Given the description of an element on the screen output the (x, y) to click on. 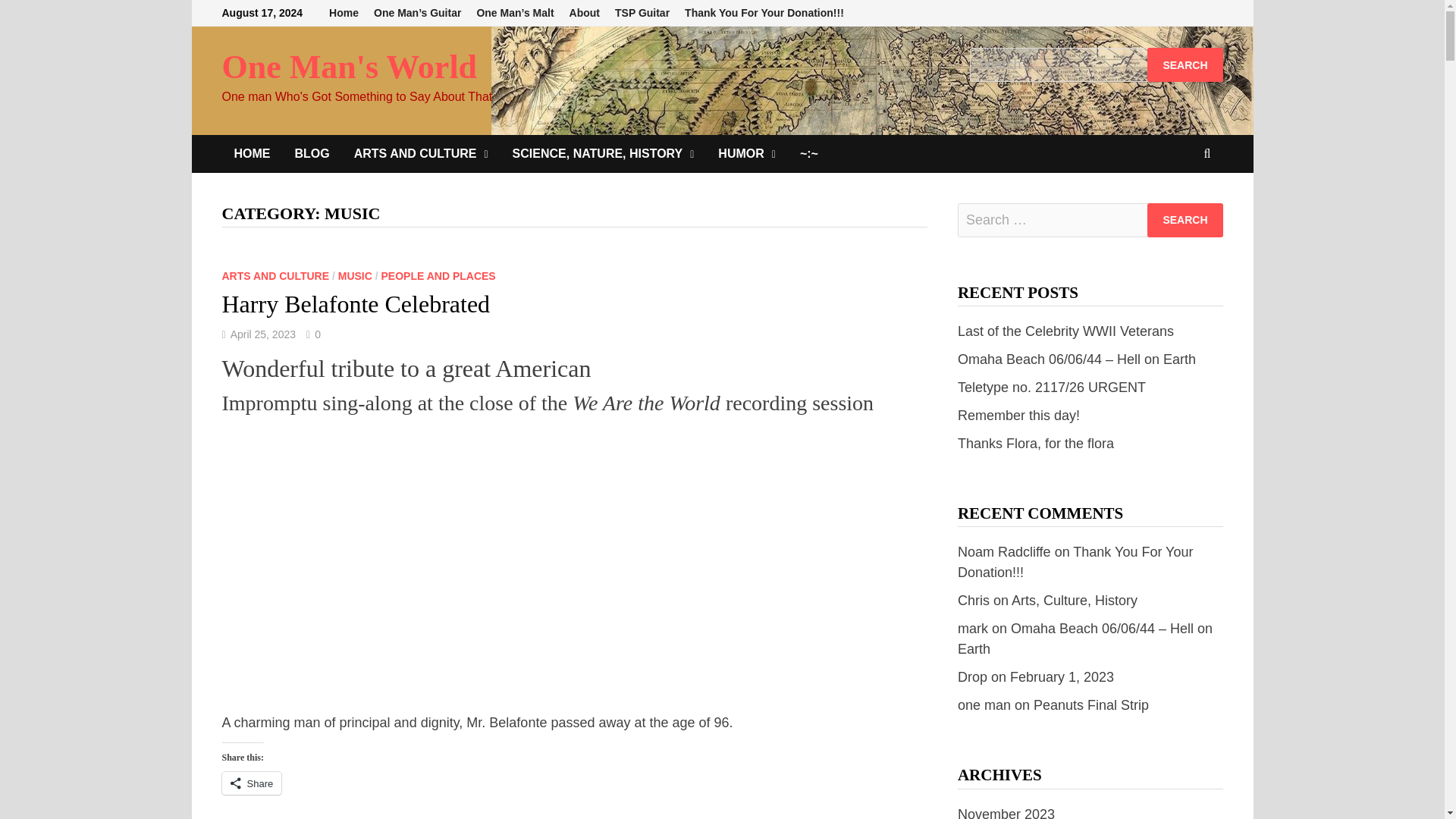
HUMOR (746, 153)
BLOG (311, 153)
Search (1185, 220)
HOME (251, 153)
Search (1185, 64)
Home (343, 13)
Search (1185, 64)
Thank You For Your Donation!!! (764, 13)
Search (1185, 220)
SCIENCE, NATURE, HISTORY (603, 153)
